Given the description of an element on the screen output the (x, y) to click on. 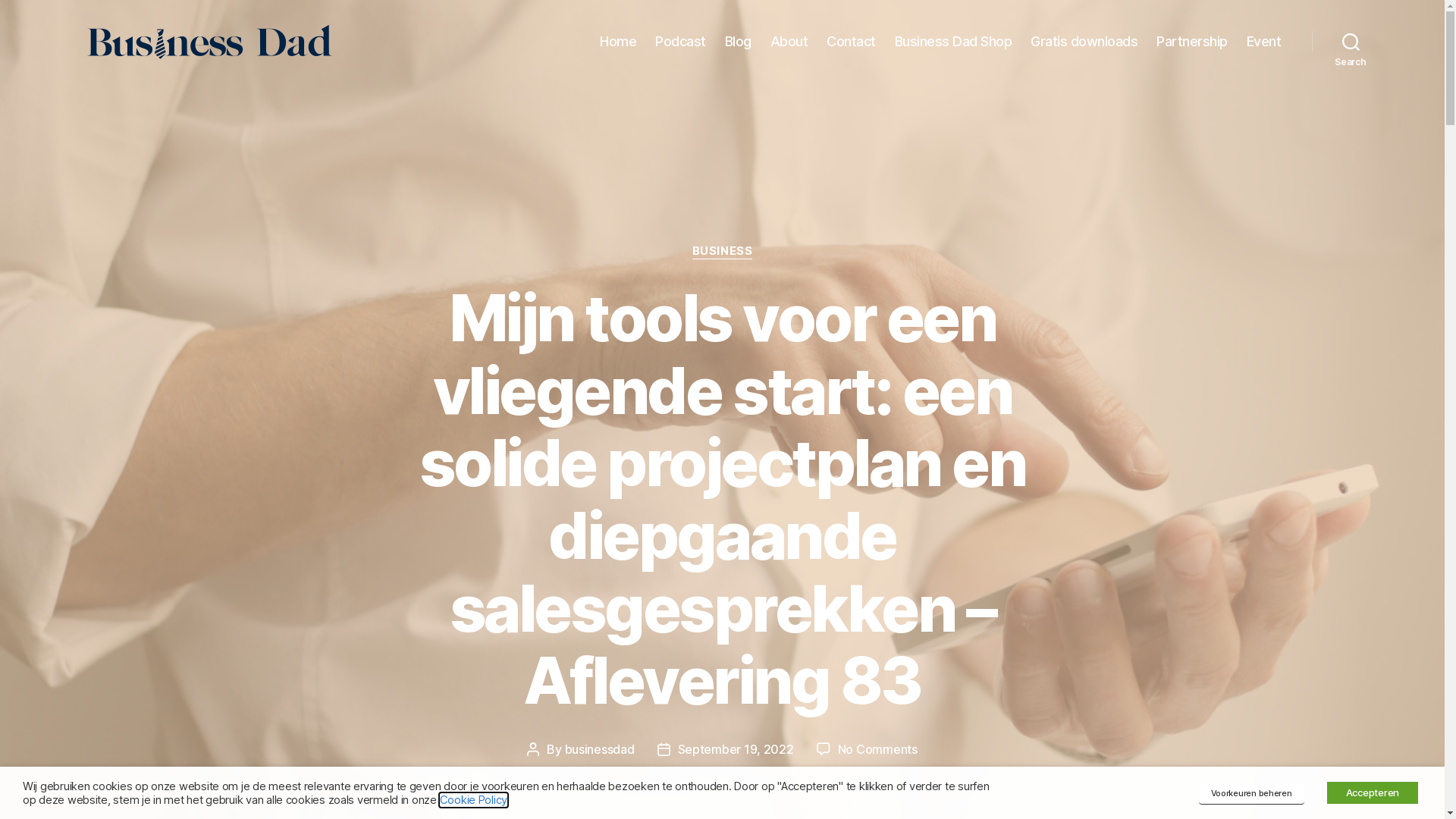
Partnership Element type: text (1191, 41)
September 19, 2022 Element type: text (735, 748)
BUSINESS Element type: text (722, 251)
Accepteren Element type: text (1372, 792)
Search Element type: text (1350, 40)
Contact Element type: text (850, 41)
Blog Element type: text (737, 41)
Business Dad Shop Element type: text (953, 41)
Event Element type: text (1263, 41)
About Element type: text (789, 41)
Podcast Element type: text (680, 41)
Cookie Policy Element type: text (473, 799)
Voorkeuren beheren Element type: text (1251, 793)
Home Element type: text (617, 41)
Gratis downloads Element type: text (1083, 41)
businessdad Element type: text (598, 748)
